Given the description of an element on the screen output the (x, y) to click on. 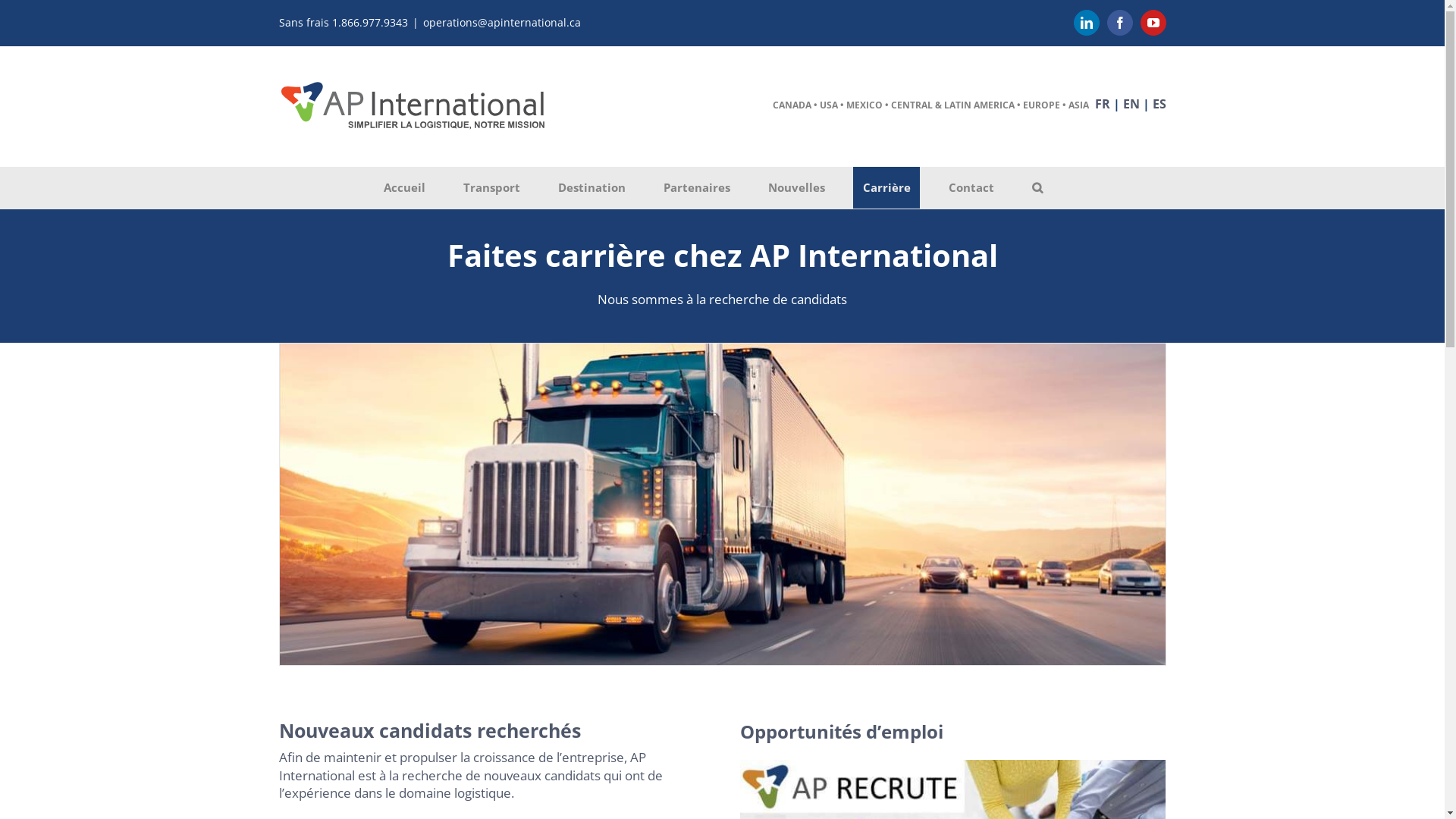
Contact Element type: text (970, 187)
YouTube Element type: text (1153, 22)
Nouvelles Element type: text (796, 187)
Destination Element type: text (591, 187)
LinkedIn Element type: text (1086, 22)
Transport Element type: text (491, 187)
Accueil Element type: text (403, 187)
Recherche Element type: hover (1036, 187)
EN Element type: text (1130, 103)
ES Element type: text (1159, 103)
Partenaires Element type: text (696, 187)
operations@apinternational.ca Element type: text (501, 22)
Facebook Element type: text (1119, 22)
FR Element type: text (1102, 103)
